Given the description of an element on the screen output the (x, y) to click on. 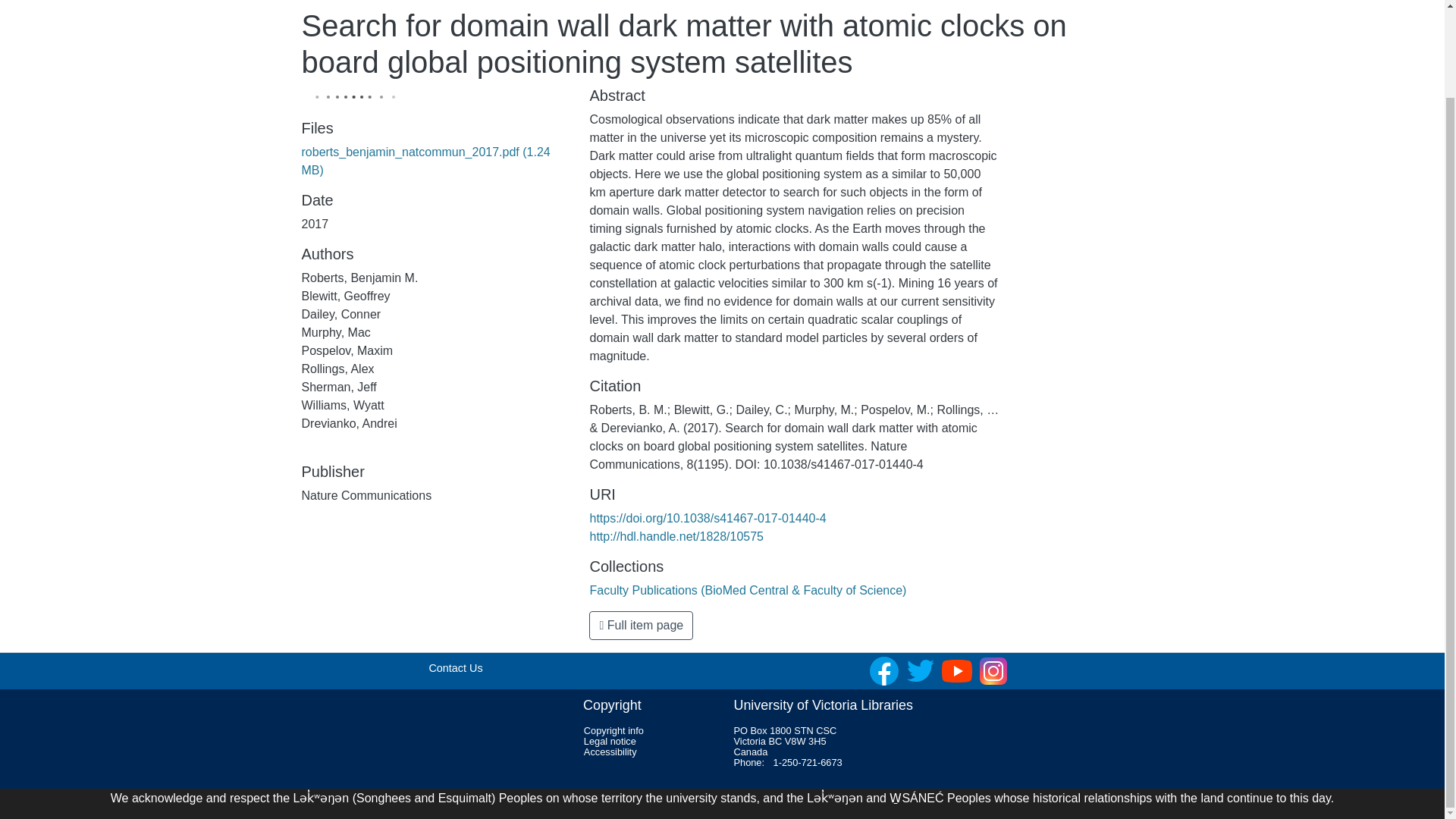
Full item page (641, 624)
Contact Us (454, 667)
